Given the description of an element on the screen output the (x, y) to click on. 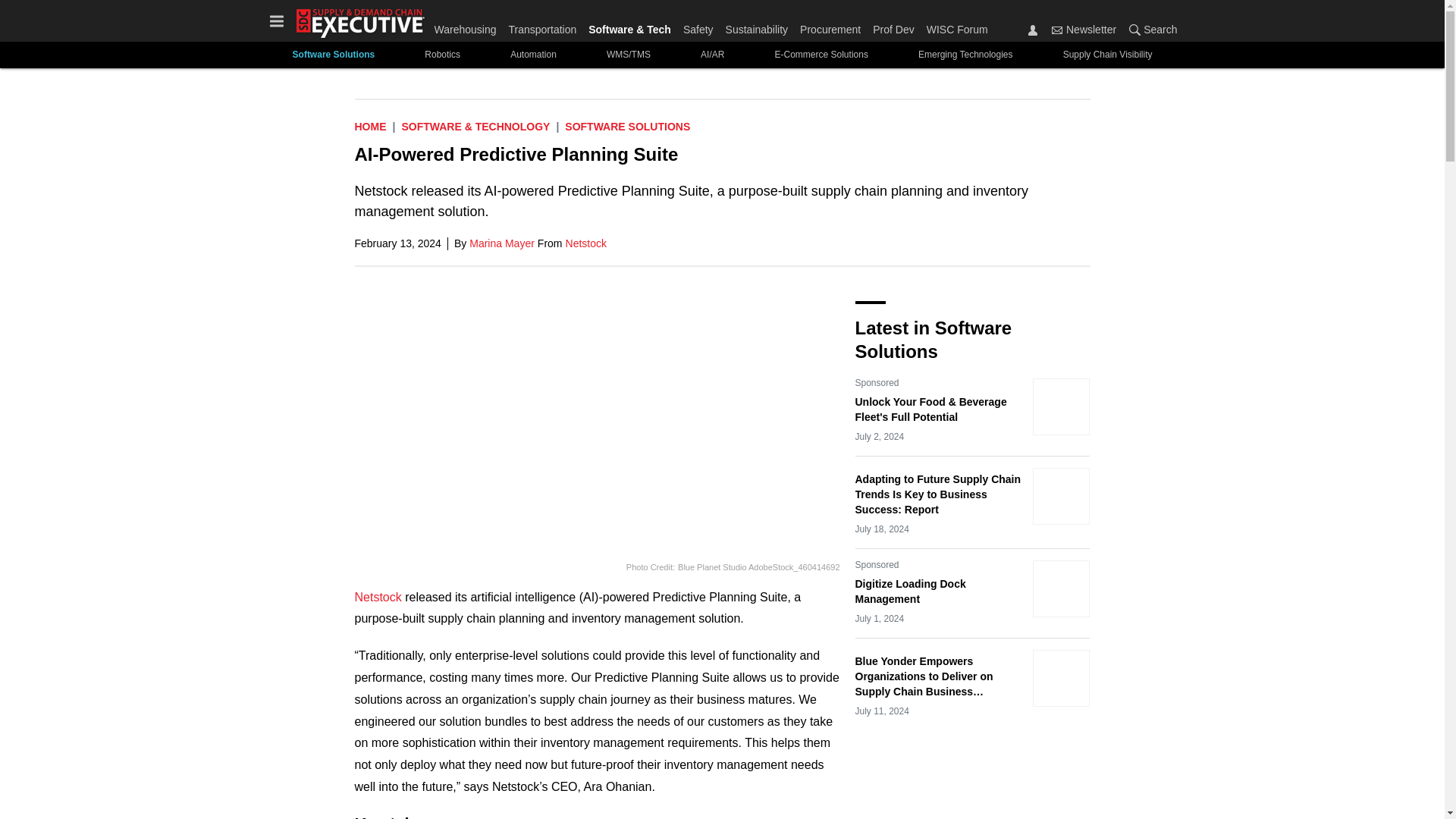
Supply Chain Visibility (1107, 54)
WISC Forum (954, 26)
Sponsored (877, 382)
Procurement (829, 26)
Warehousing (467, 26)
Safety (698, 26)
Robotics (442, 54)
Sustainability (756, 26)
Automation (533, 54)
Search (1134, 29)
Sponsored (877, 564)
E-Commerce Solutions (820, 54)
Sign In (1032, 29)
Emerging Technologies (965, 54)
Software Solutions (333, 54)
